Given the description of an element on the screen output the (x, y) to click on. 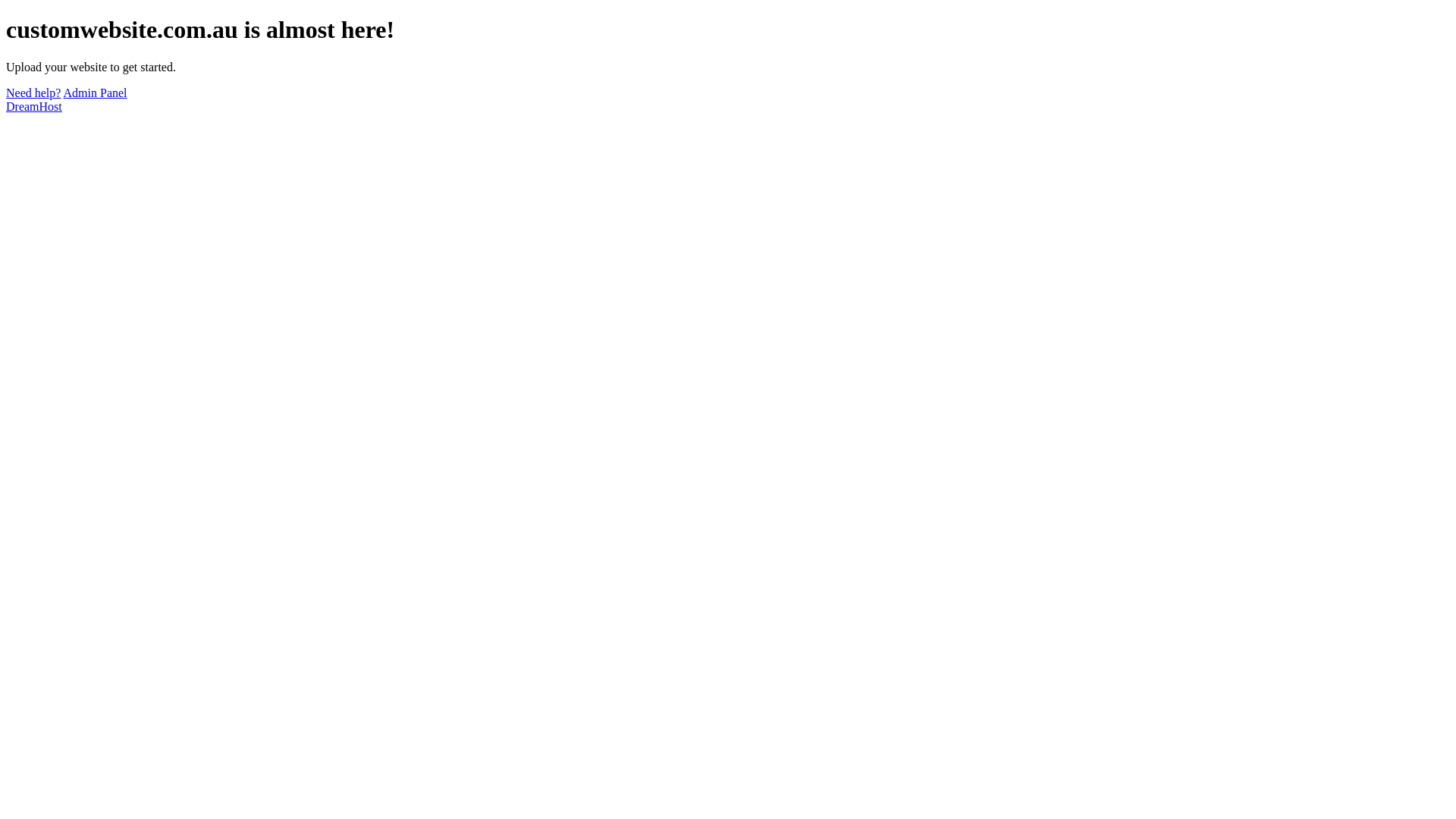
Need help? Element type: text (33, 92)
DreamHost Element type: text (34, 106)
Admin Panel Element type: text (95, 92)
